Given the description of an element on the screen output the (x, y) to click on. 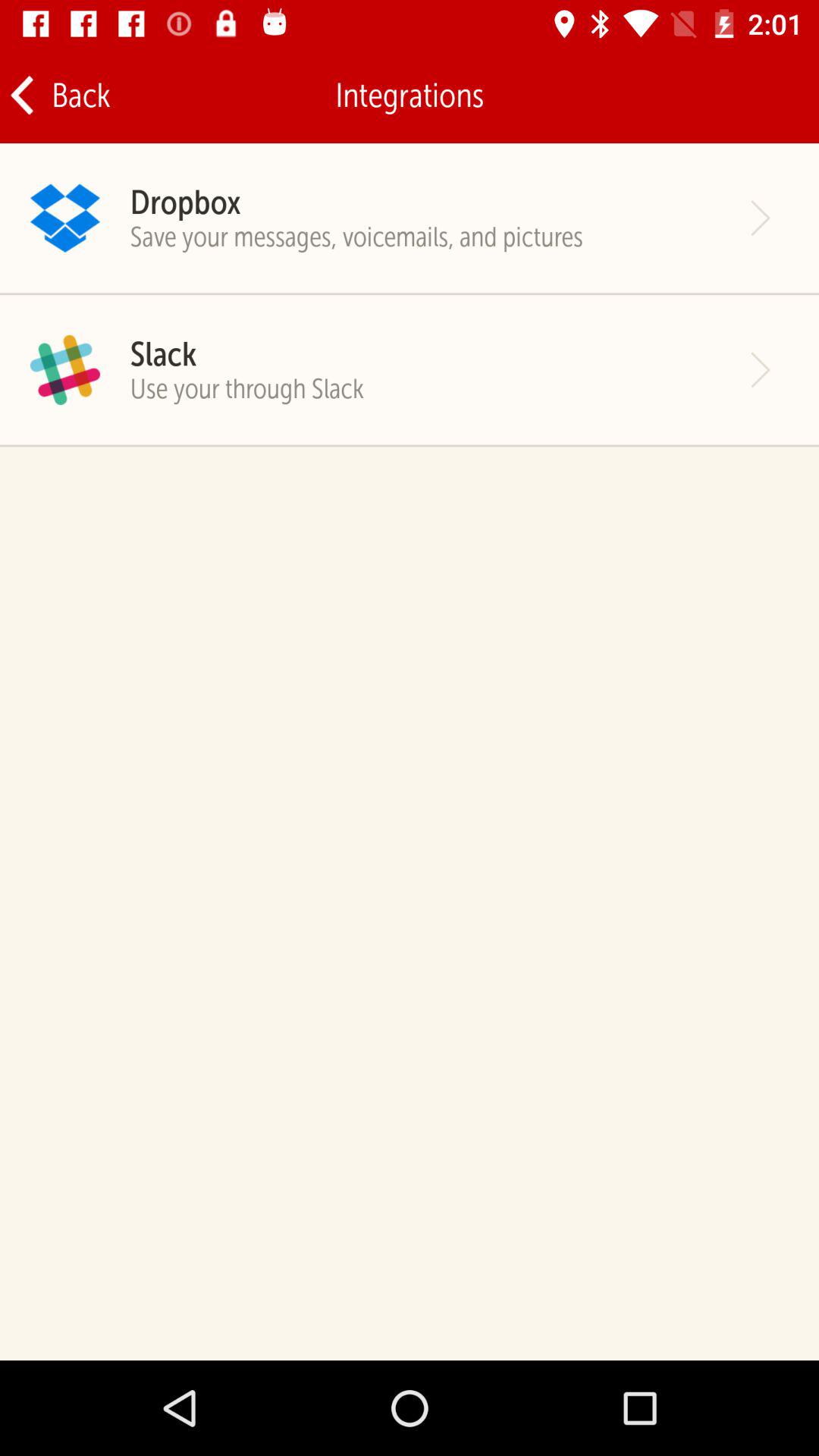
open icon below the dropbox (356, 236)
